Given the description of an element on the screen output the (x, y) to click on. 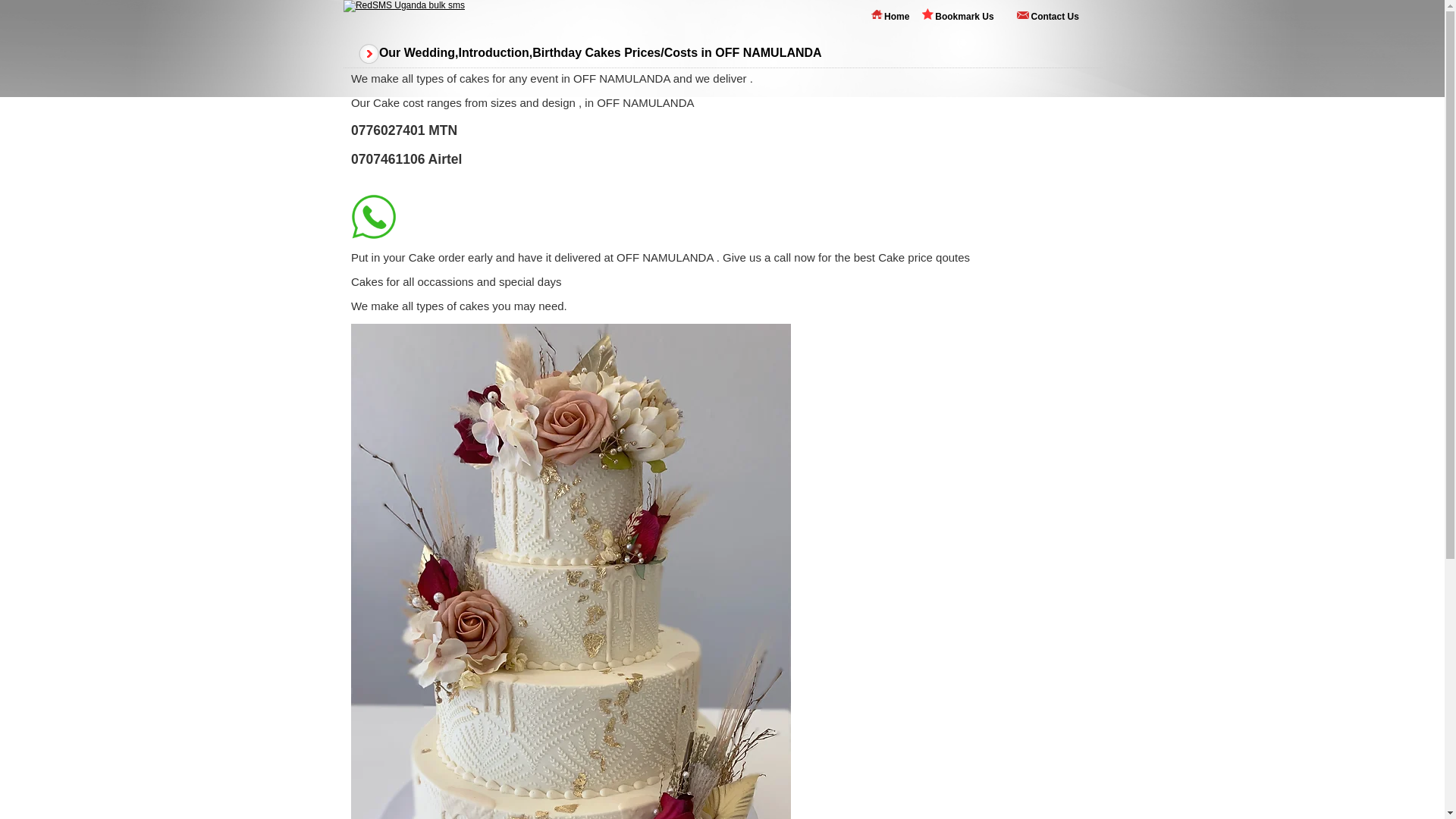
Bookmark Us (963, 16)
Home (895, 15)
Contact Us (1054, 15)
